Given the description of an element on the screen output the (x, y) to click on. 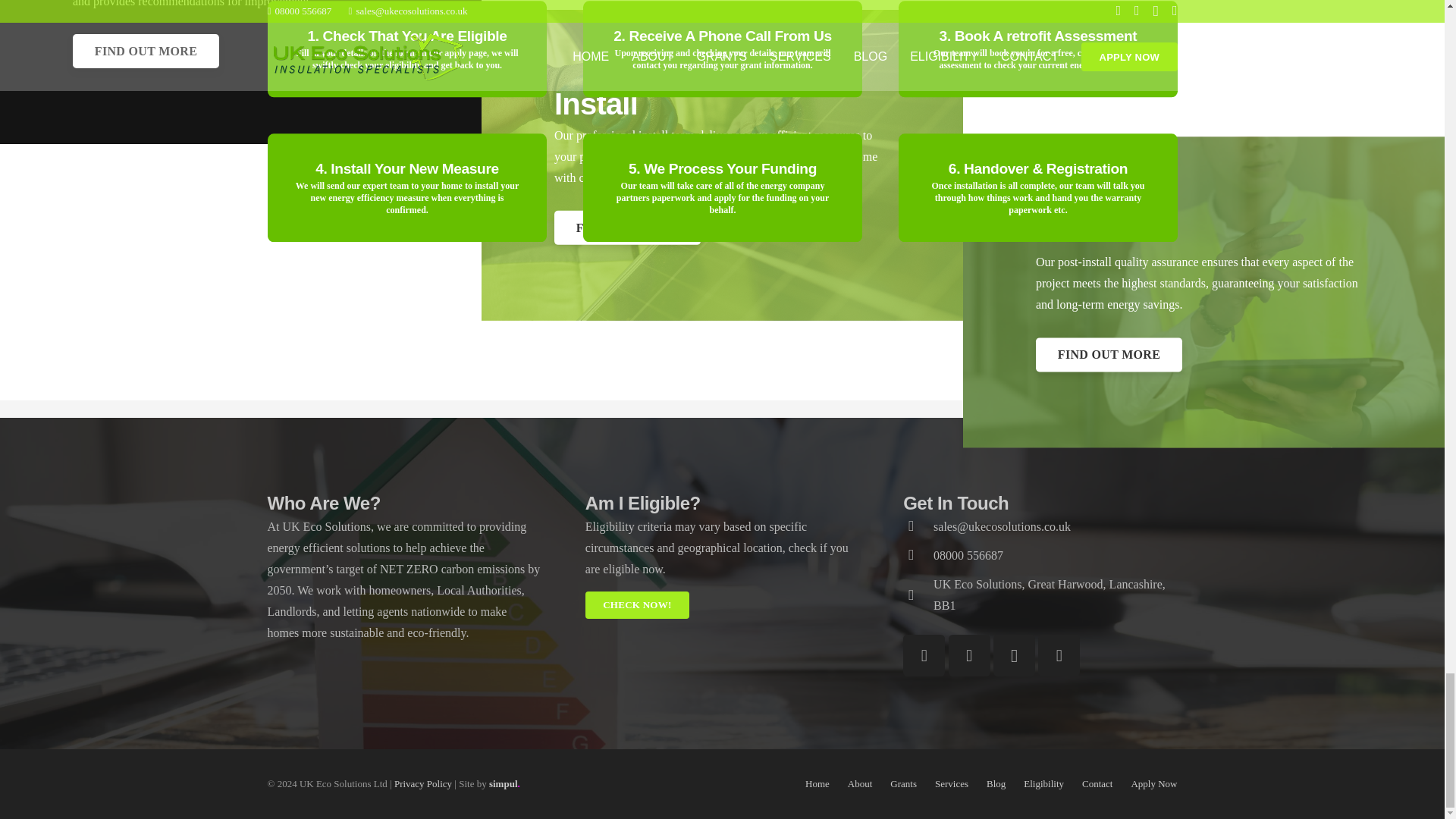
FIND OUT MORE (145, 50)
FIND OUT MORE (1108, 354)
FIND OUT MORE (627, 226)
